Given the description of an element on the screen output the (x, y) to click on. 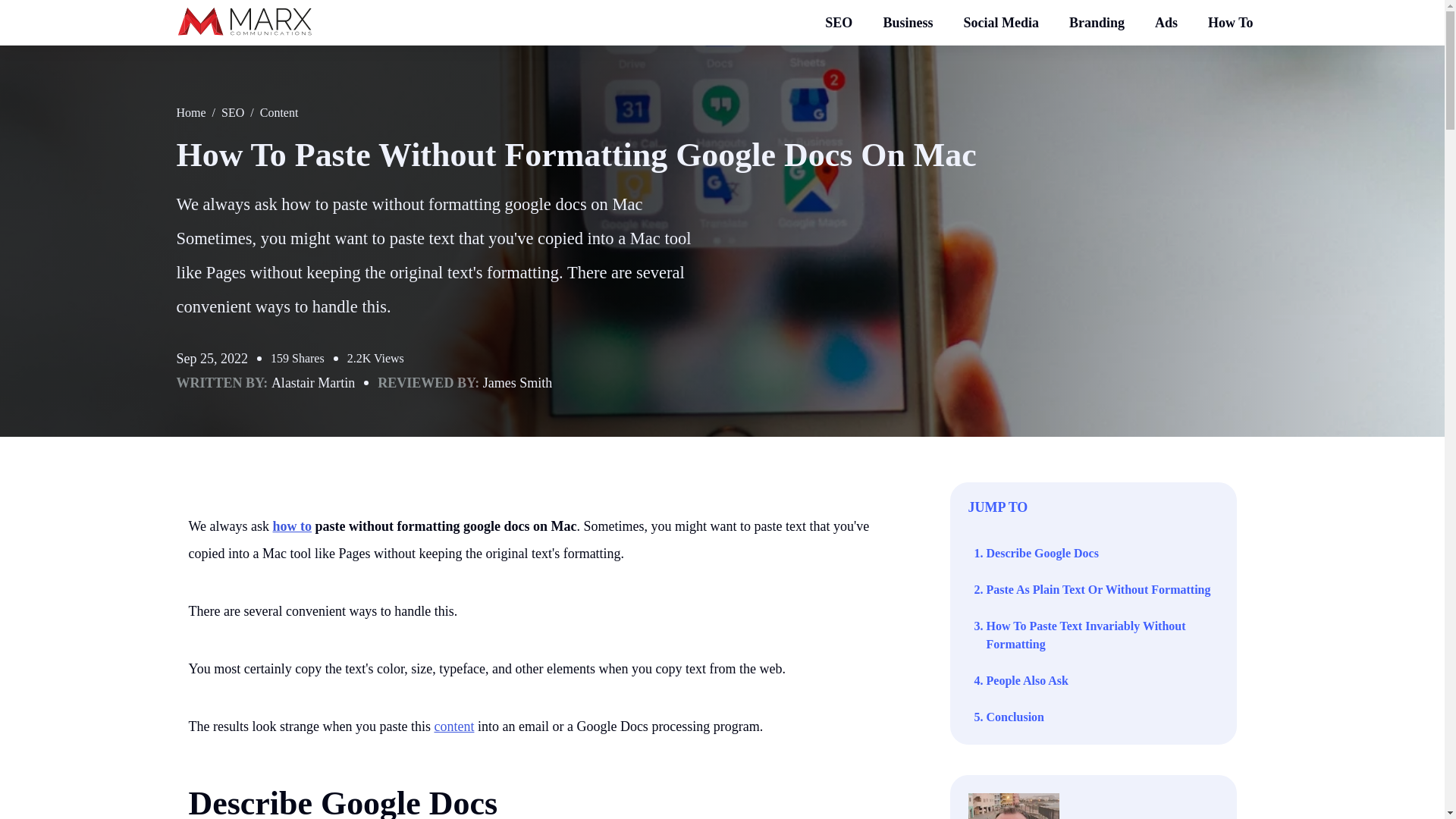
Social Media (1000, 22)
Describe Google Docs (342, 801)
content (453, 726)
Last updated on Sep 25, 2022 (211, 358)
Content (279, 112)
How To (1230, 22)
SEO (838, 22)
Ads (1166, 22)
Business (907, 22)
how to (293, 525)
Home (190, 112)
Branding (1097, 22)
